Given the description of an element on the screen output the (x, y) to click on. 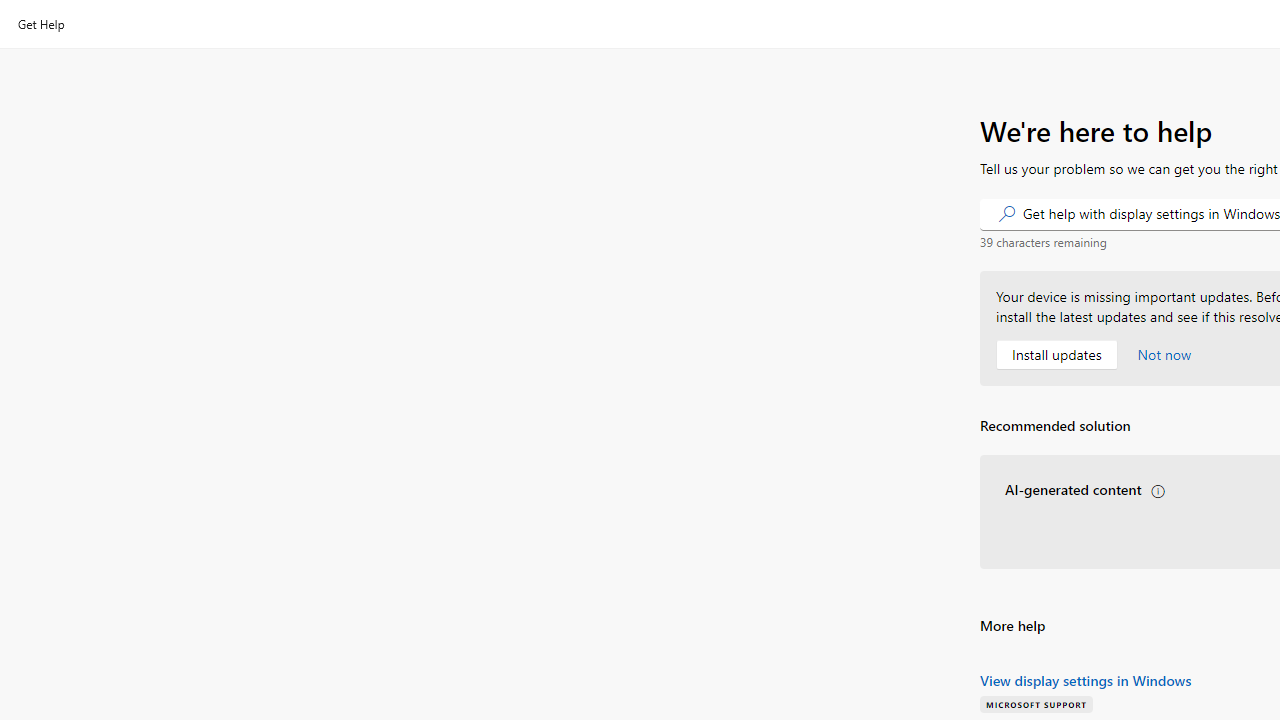
System (10, 11)
System (10, 11)
